Given the description of an element on the screen output the (x, y) to click on. 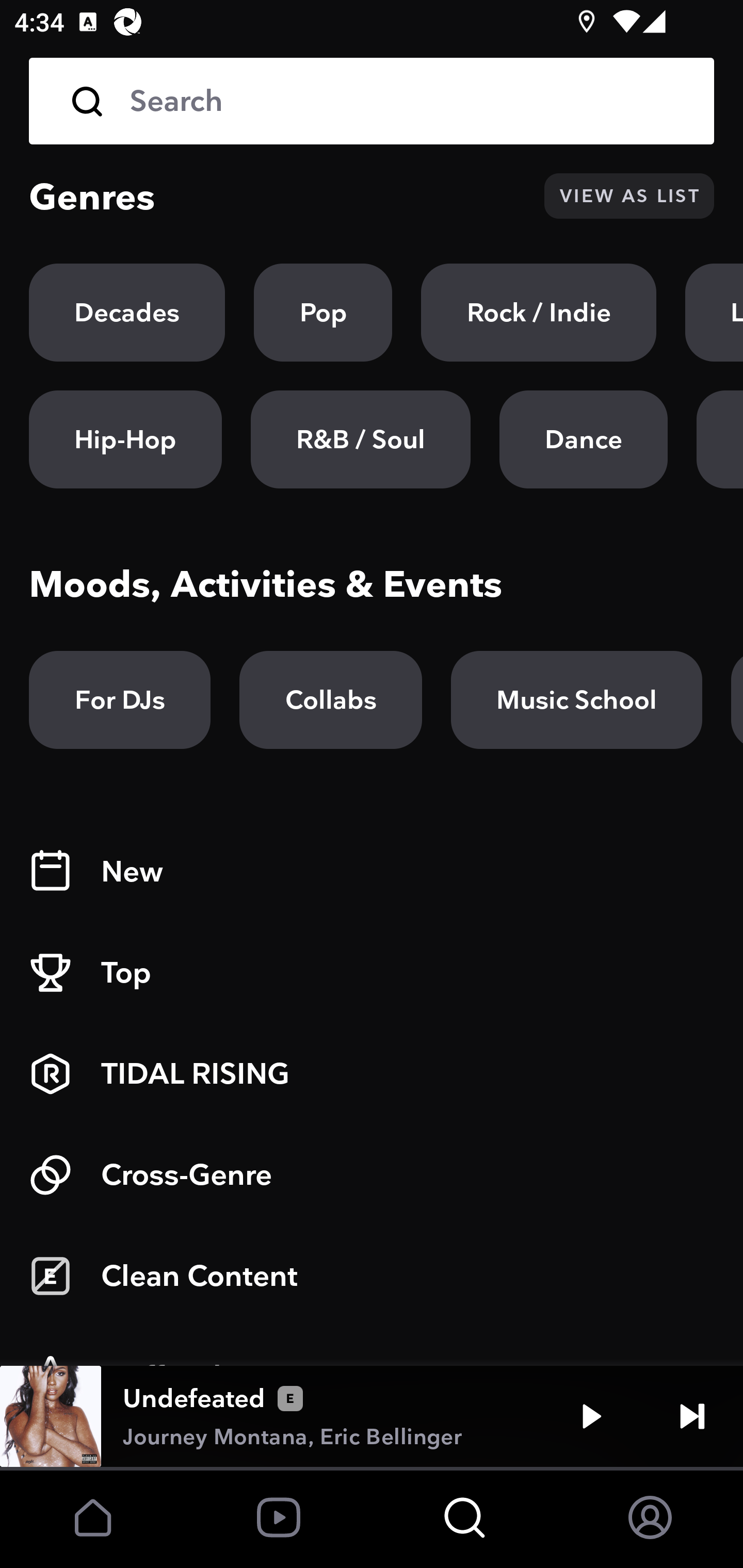
Search (371, 101)
Search (407, 100)
VIEW AS LIST (629, 195)
Decades (126, 312)
Pop (323, 312)
Rock / Indie (538, 312)
Hip-Hop (125, 439)
R&B / Soul (360, 439)
Dance (583, 439)
For DJs (119, 699)
Collabs (330, 699)
Music School (576, 699)
New (371, 871)
Top (371, 972)
TIDAL RISING (371, 1073)
Cross-Genre (371, 1175)
Clean Content (371, 1276)
Undefeated    Journey Montana, Eric Bellinger Play (371, 1416)
Play (590, 1416)
